Given the description of an element on the screen output the (x, y) to click on. 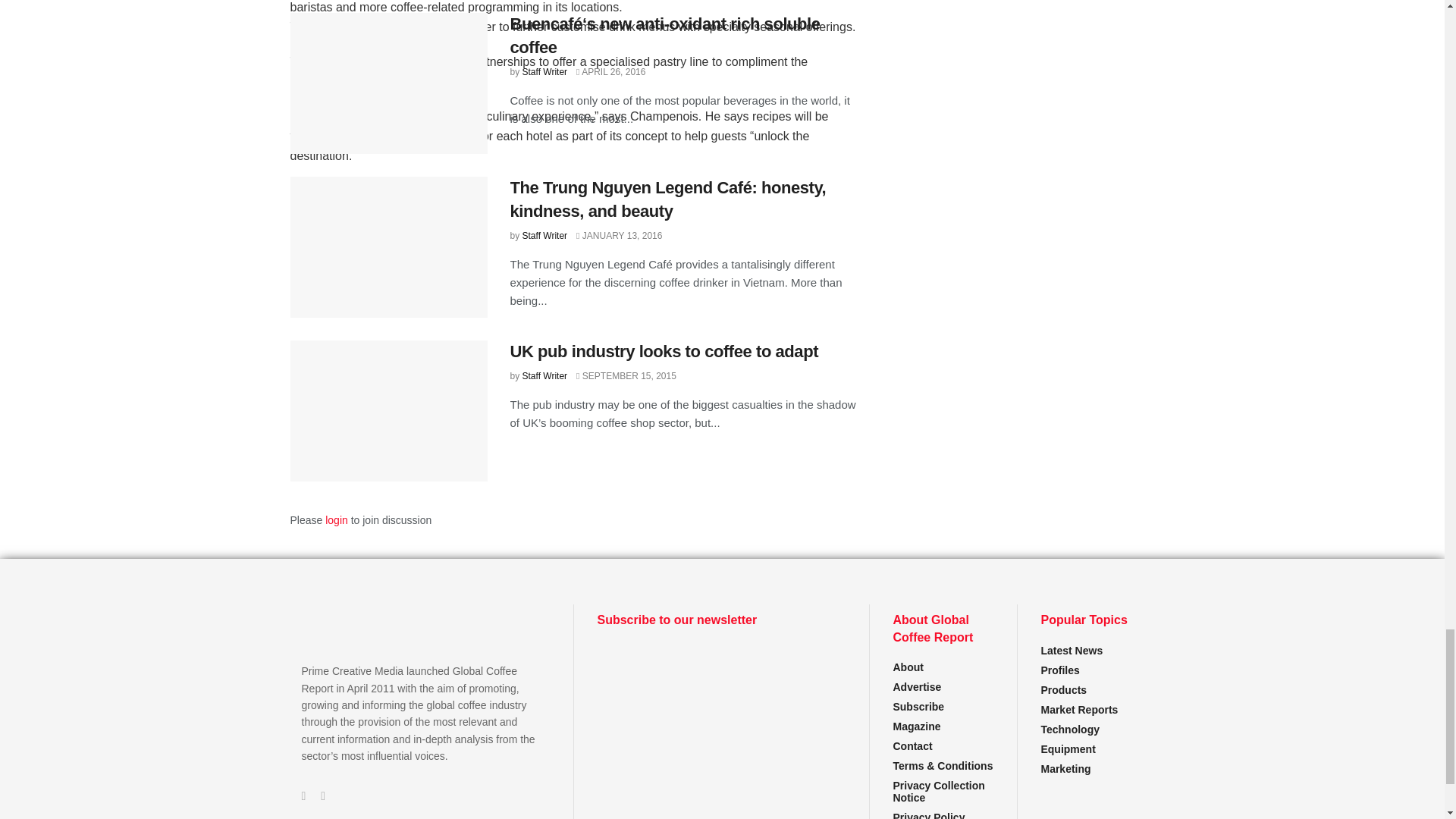
Newsletter signup for Footer (720, 701)
